Given the description of an element on the screen output the (x, y) to click on. 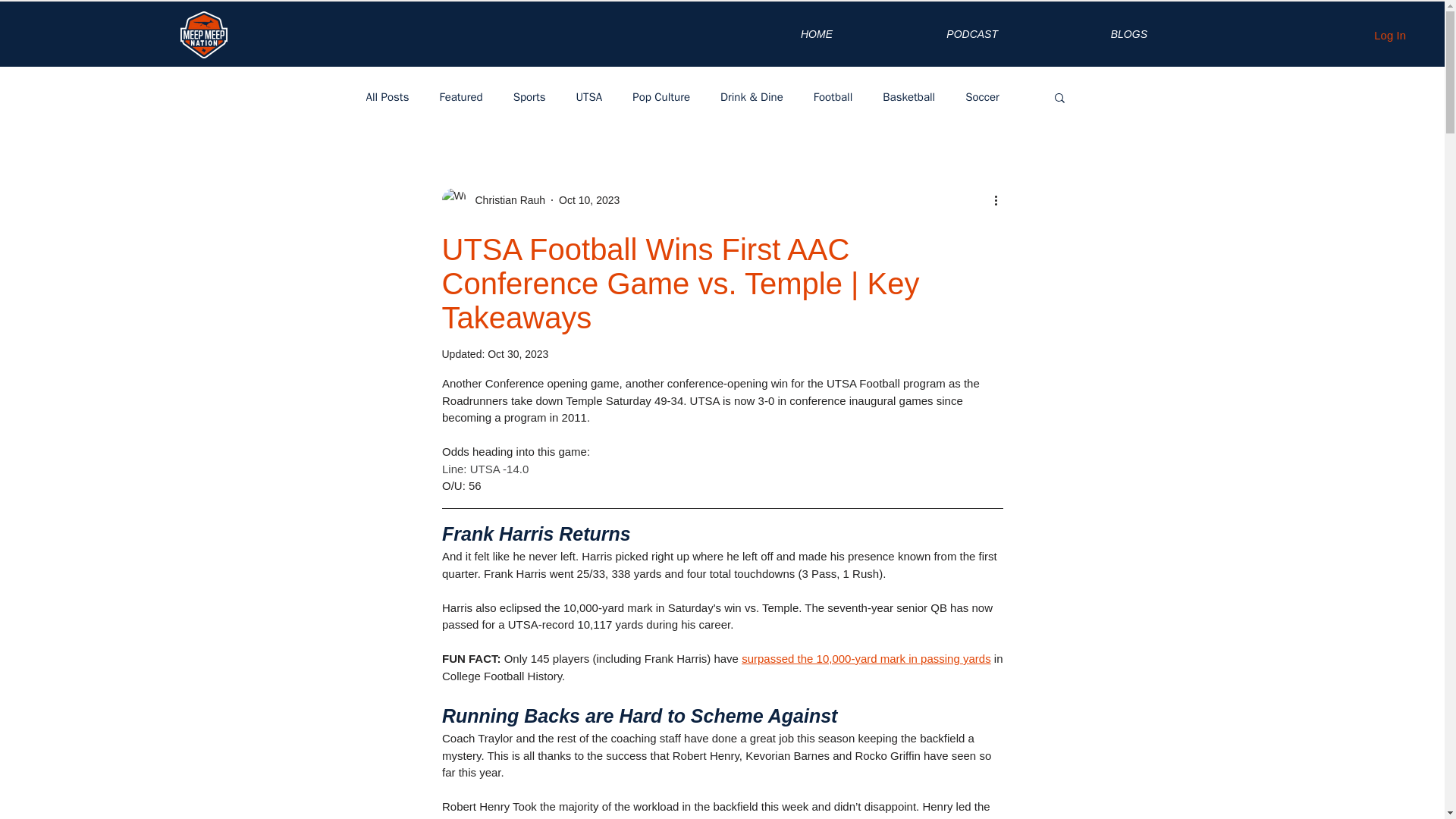
surpassed the 10,000-yard mark in passing yards (866, 658)
Log In (1389, 34)
Sports (529, 96)
All Posts (387, 96)
UTSA (588, 96)
BLOGS (1083, 33)
Oct 30, 2023 (517, 354)
Football (833, 96)
Oct 10, 2023 (589, 200)
Basketball (908, 96)
